Given the description of an element on the screen output the (x, y) to click on. 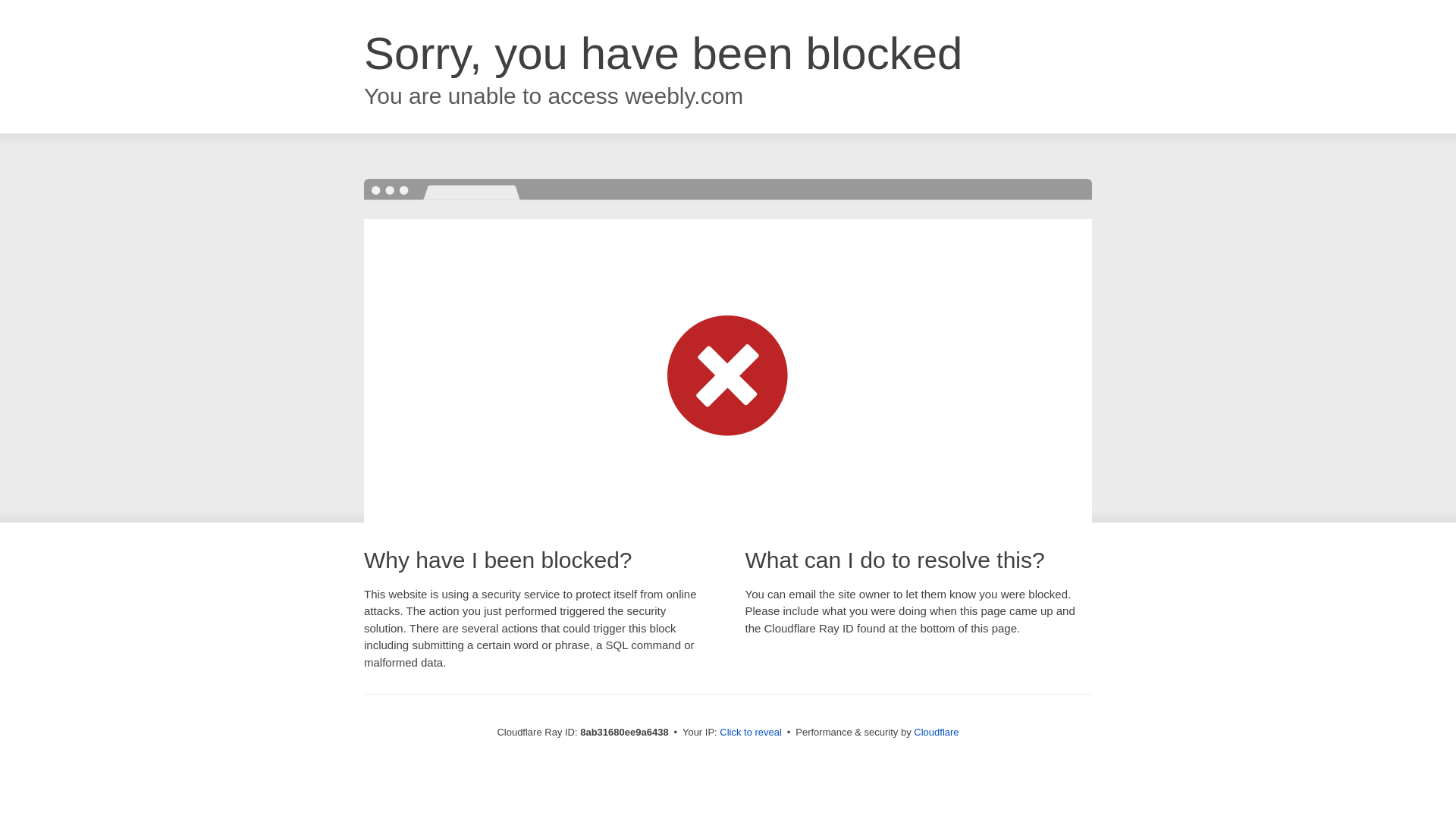
Cloudflare (936, 731)
Click to reveal (750, 732)
